Given the description of an element on the screen output the (x, y) to click on. 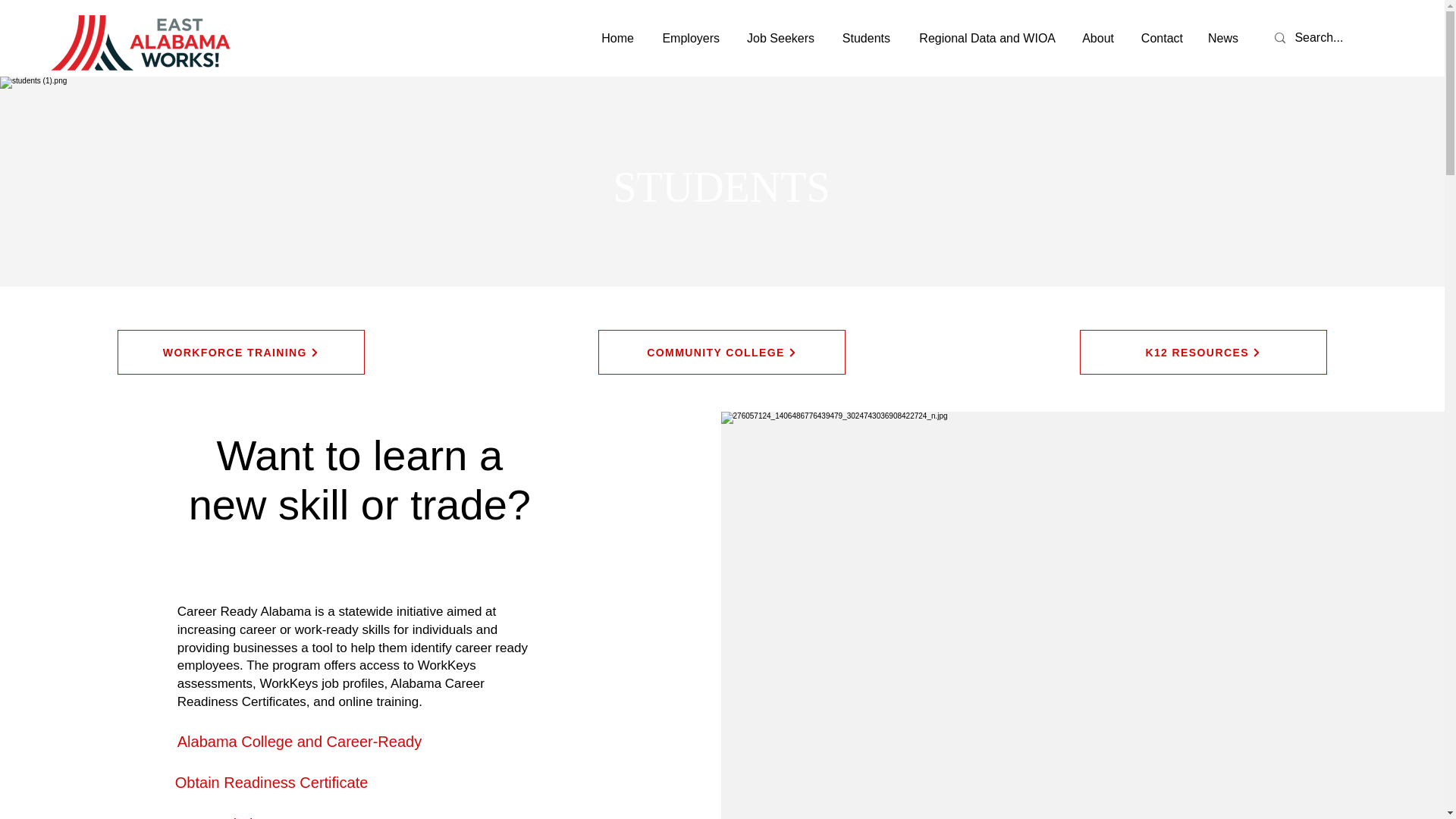
Obtain Readiness Certificate (271, 782)
Regional Data and WIOA (984, 37)
COMMUNITY COLLEGE (721, 352)
Home (615, 37)
News (1221, 37)
Employers (687, 37)
WORKFORCE TRAINING (241, 352)
K12 RESOURCES (1203, 352)
About (1096, 37)
WIN Website (220, 817)
